Given the description of an element on the screen output the (x, y) to click on. 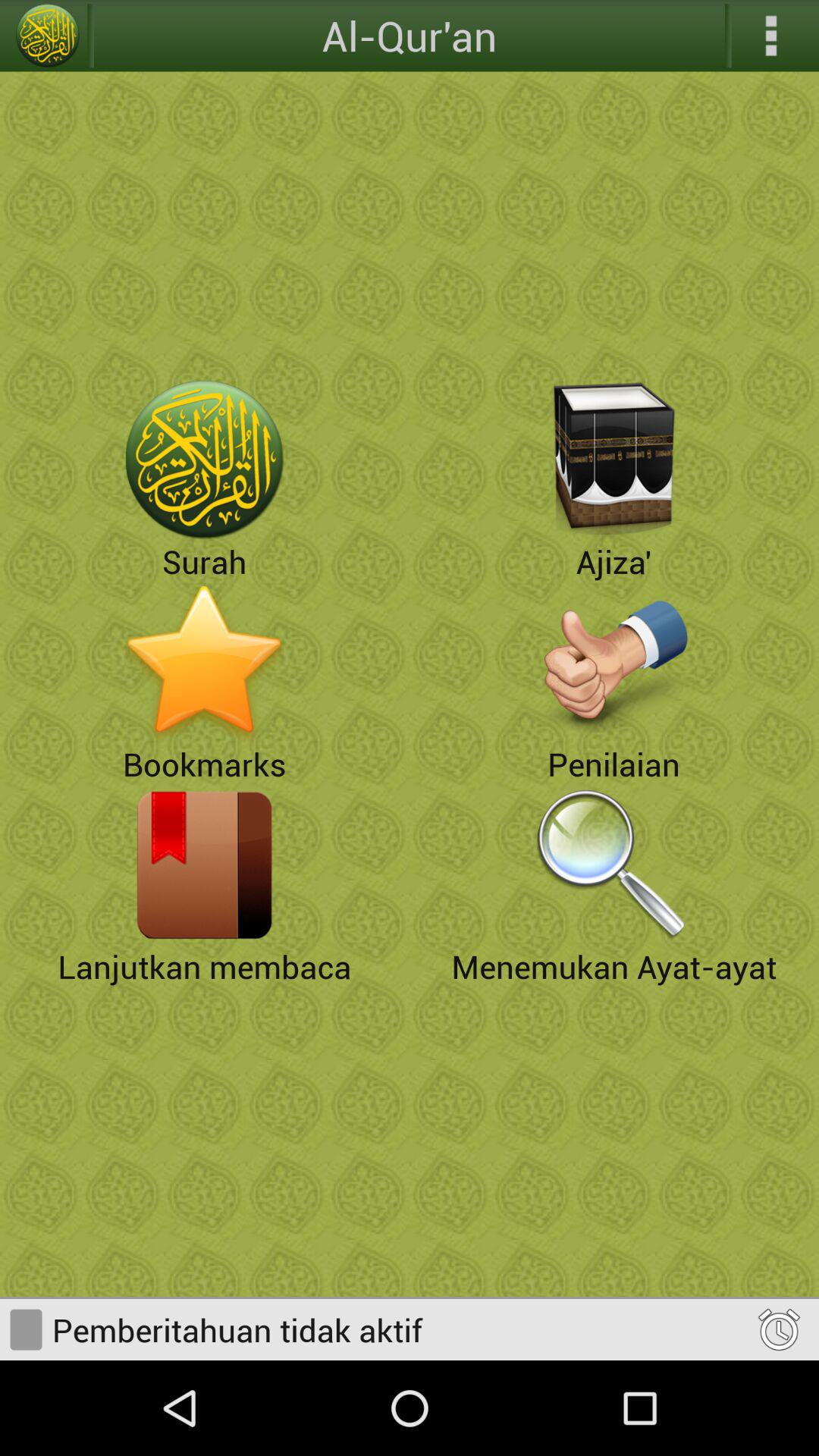
settings (771, 35)
